Given the description of an element on the screen output the (x, y) to click on. 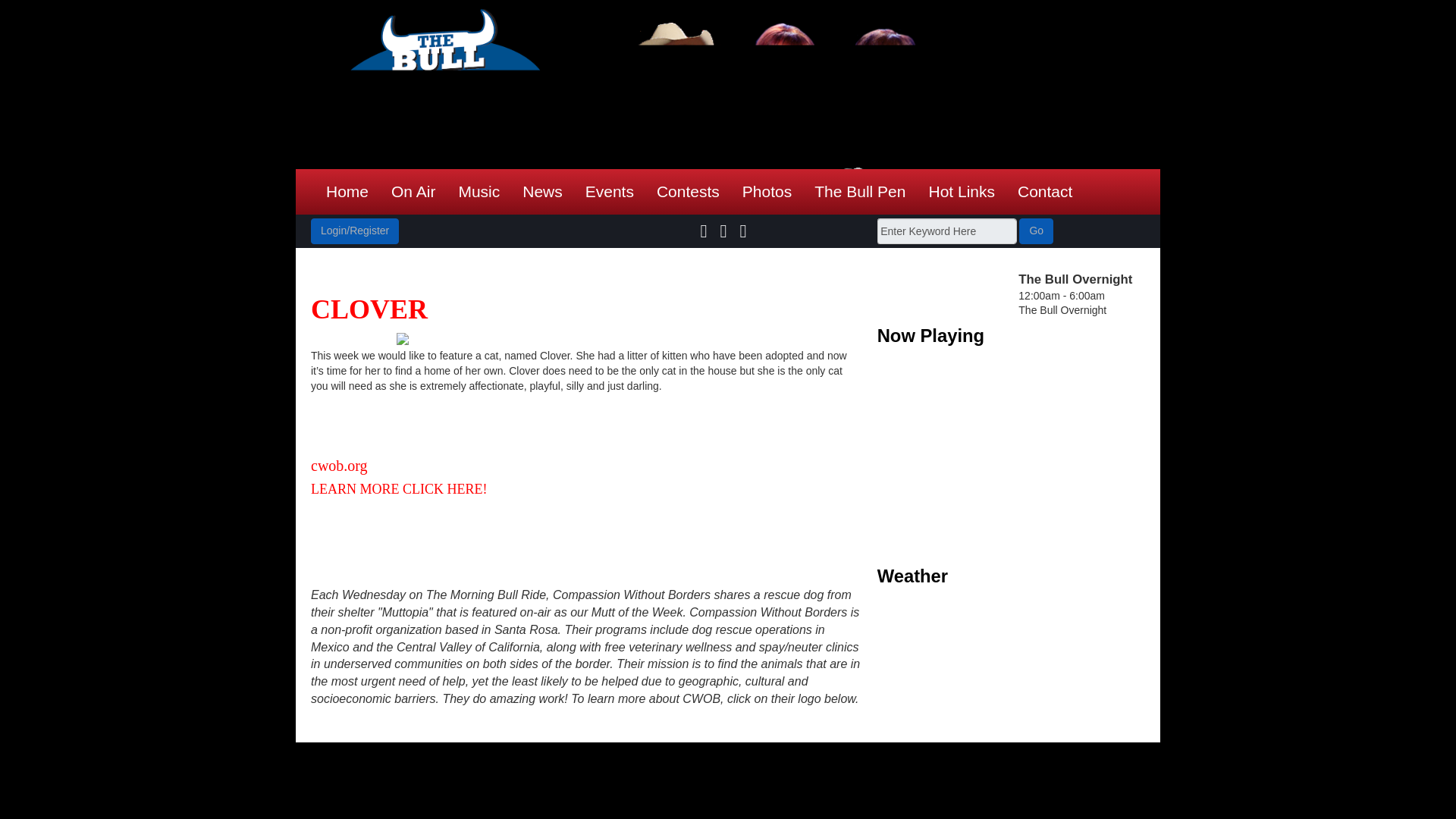
News (542, 191)
Music (478, 191)
Events (609, 191)
Contests (687, 191)
Home (347, 191)
On Air (413, 191)
Photos (766, 191)
Enter Keyword Here (946, 231)
